Given the description of an element on the screen output the (x, y) to click on. 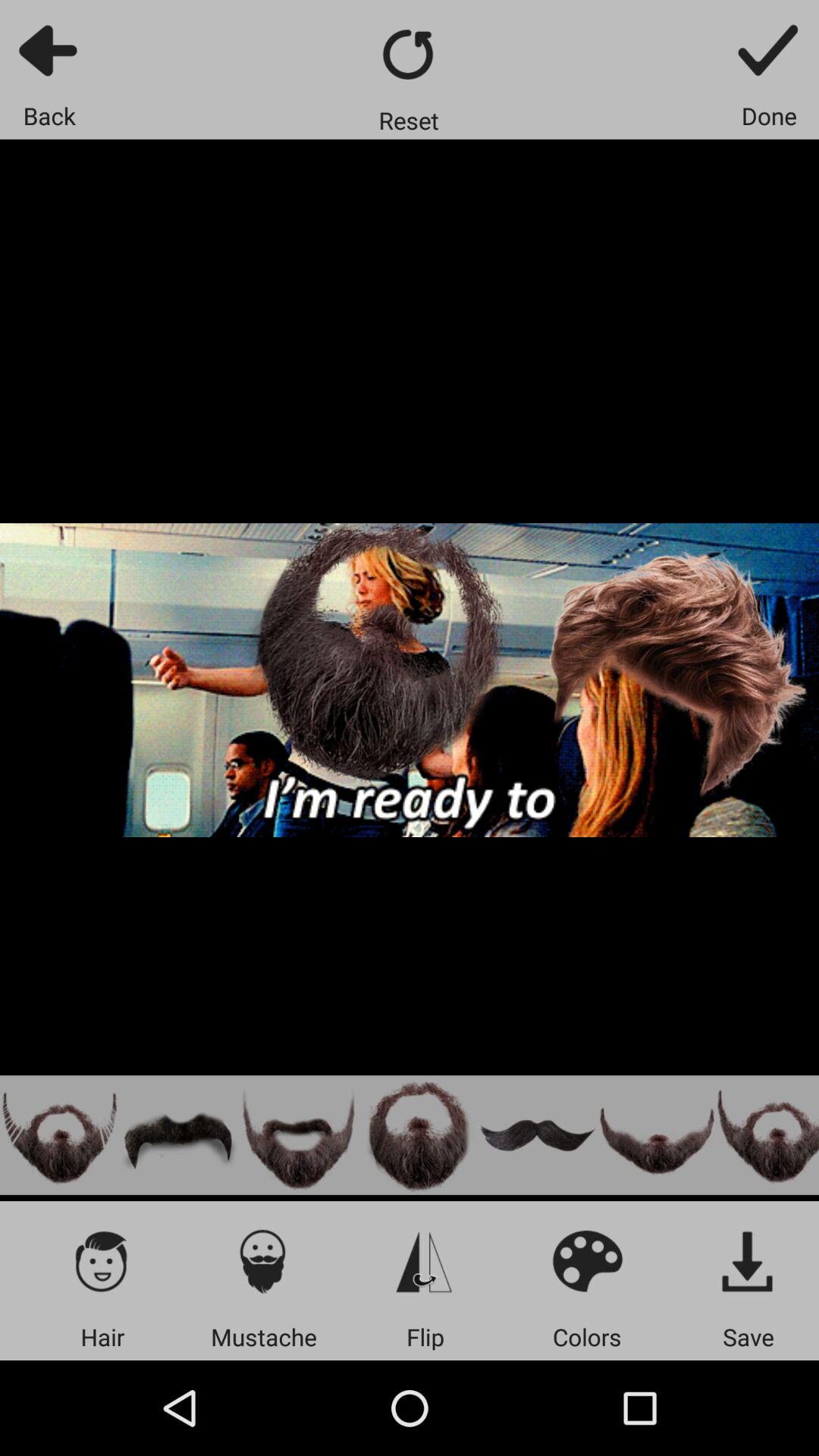
add bear (59, 1134)
